Given the description of an element on the screen output the (x, y) to click on. 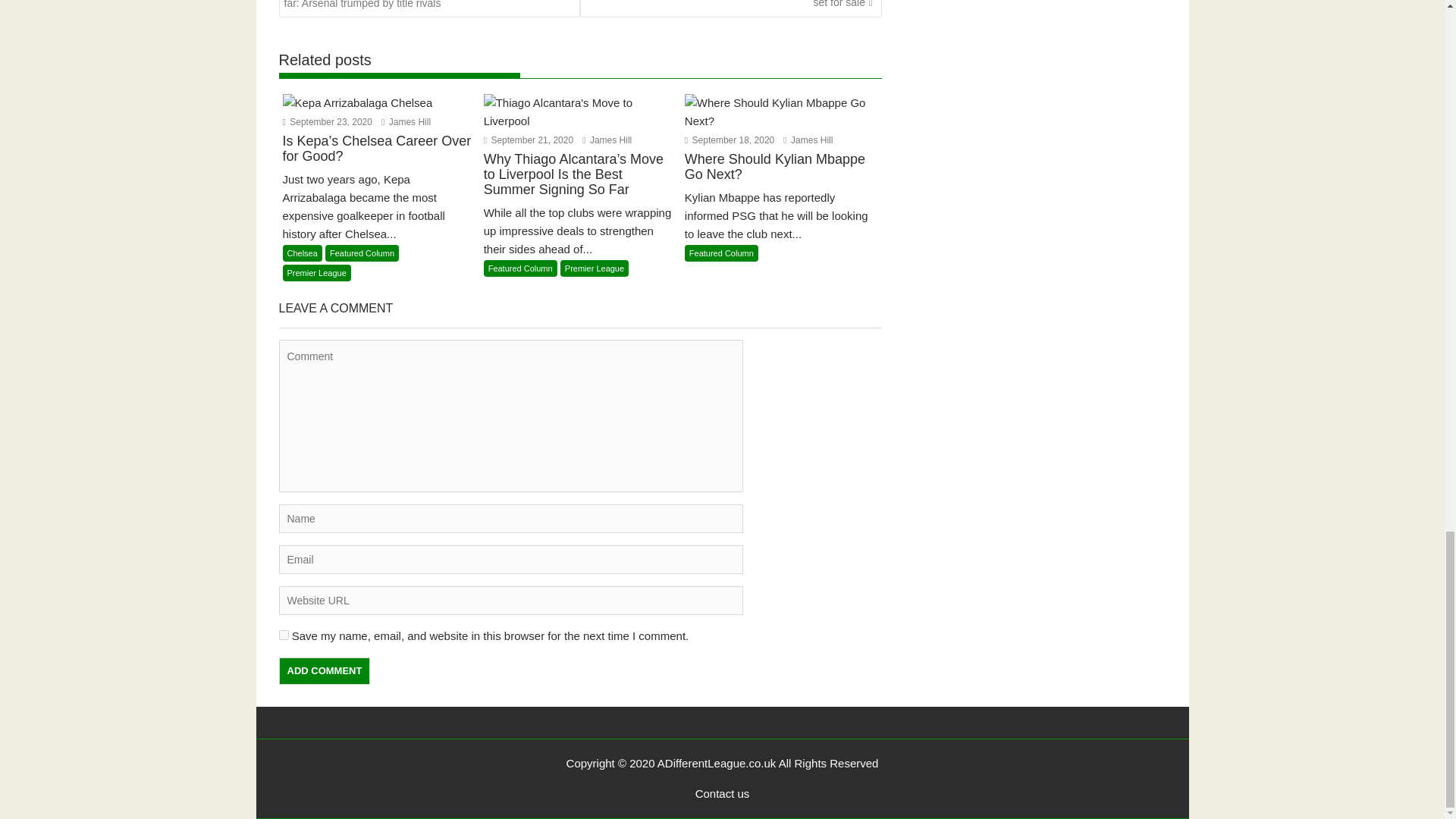
Premier League (316, 272)
September 21, 2020 (528, 140)
yes (283, 634)
James Hill (807, 140)
Featured Column (361, 252)
Chelsea (301, 252)
James Hill (405, 122)
James Hill (606, 140)
James Hill (606, 140)
James Hill (405, 122)
